Given the description of an element on the screen output the (x, y) to click on. 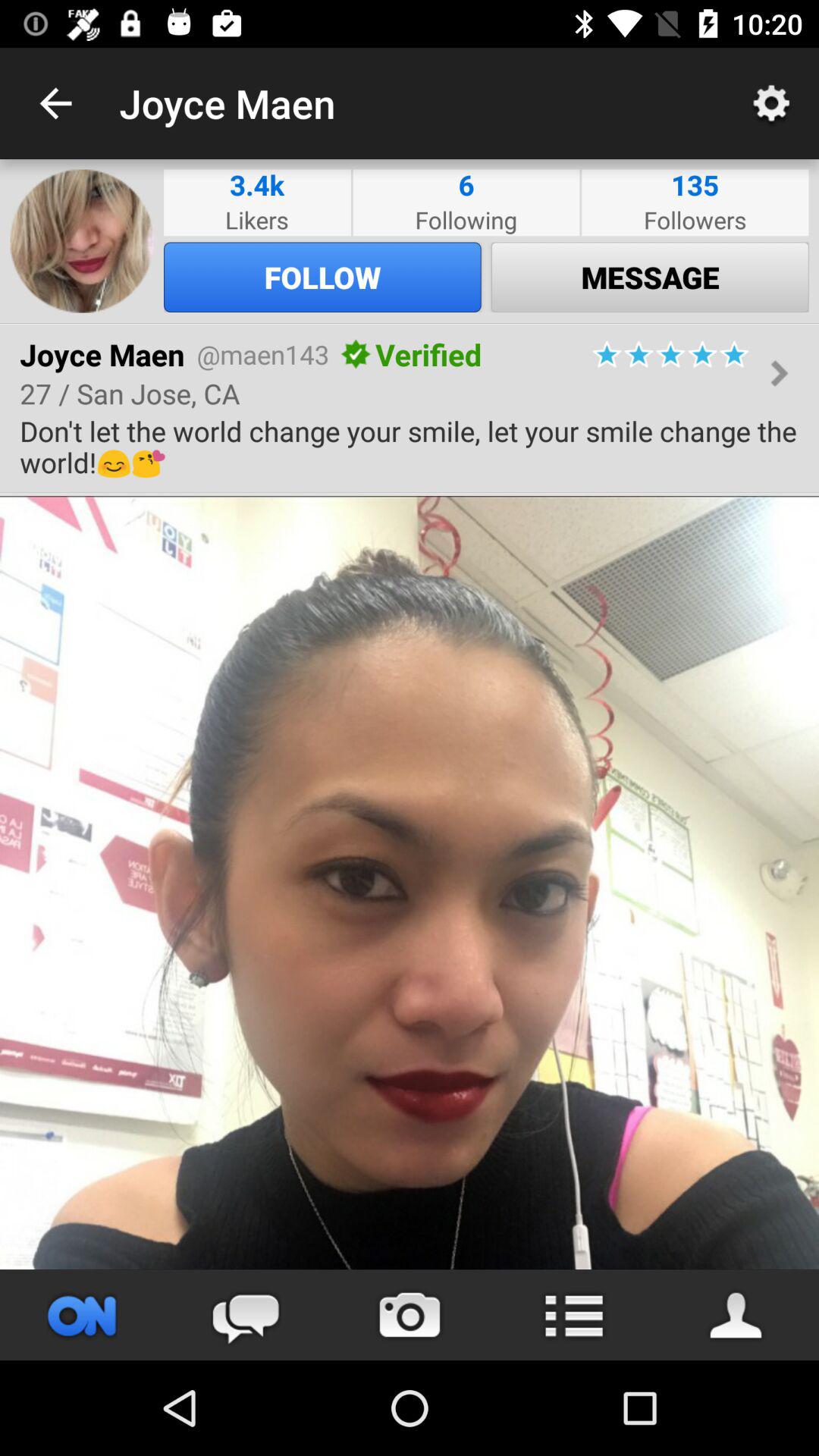
profile details (737, 1315)
